Given the description of an element on the screen output the (x, y) to click on. 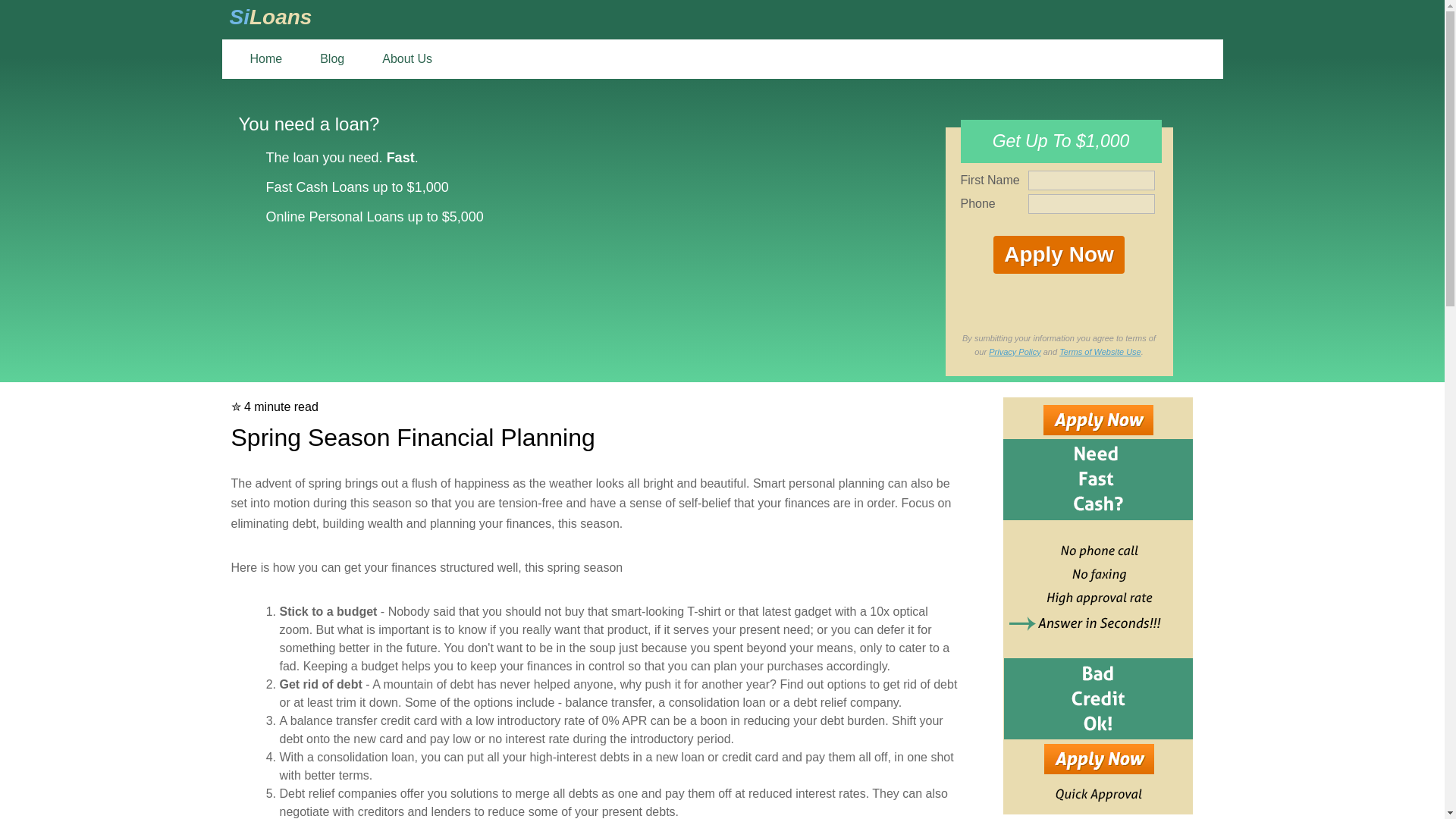
Apply Now (1058, 254)
Terms of Website Use (1100, 351)
SiLoans (269, 17)
Apply Now (1058, 254)
About Us (412, 58)
Privacy Policy (1014, 351)
Simple Loans (269, 17)
Home (265, 58)
Blog (331, 58)
